Given the description of an element on the screen output the (x, y) to click on. 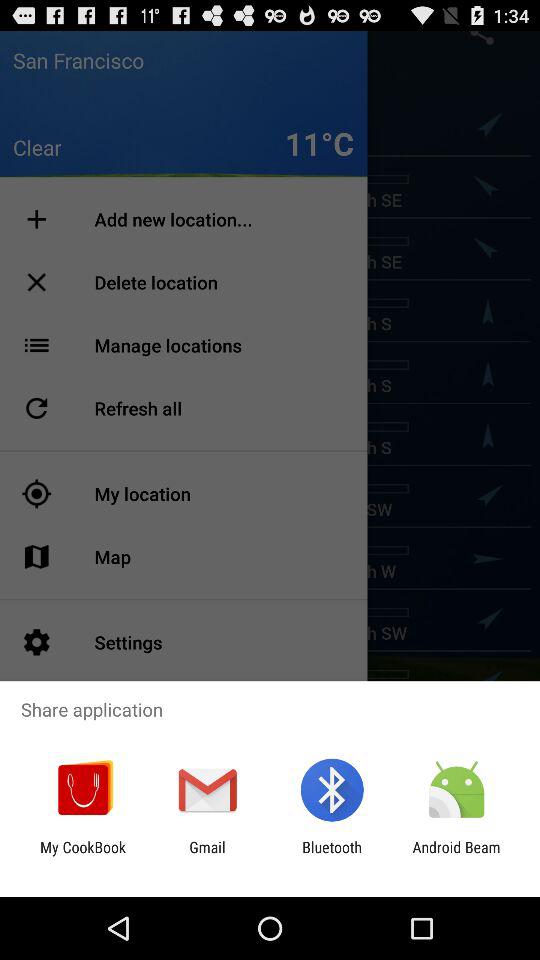
launch the app next to the gmail icon (83, 856)
